Given the description of an element on the screen output the (x, y) to click on. 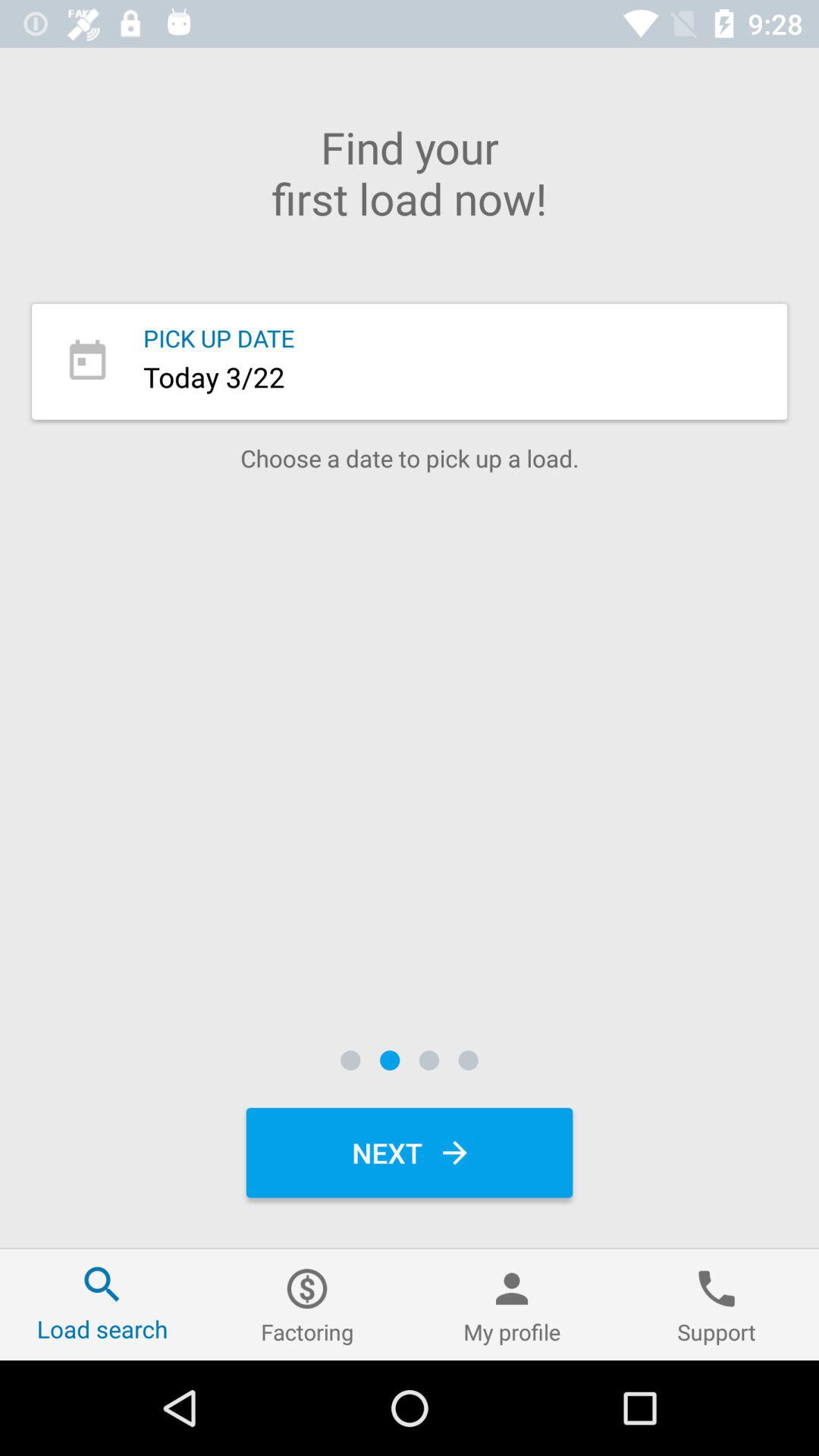
click item to the right of my profile icon (716, 1304)
